Given the description of an element on the screen output the (x, y) to click on. 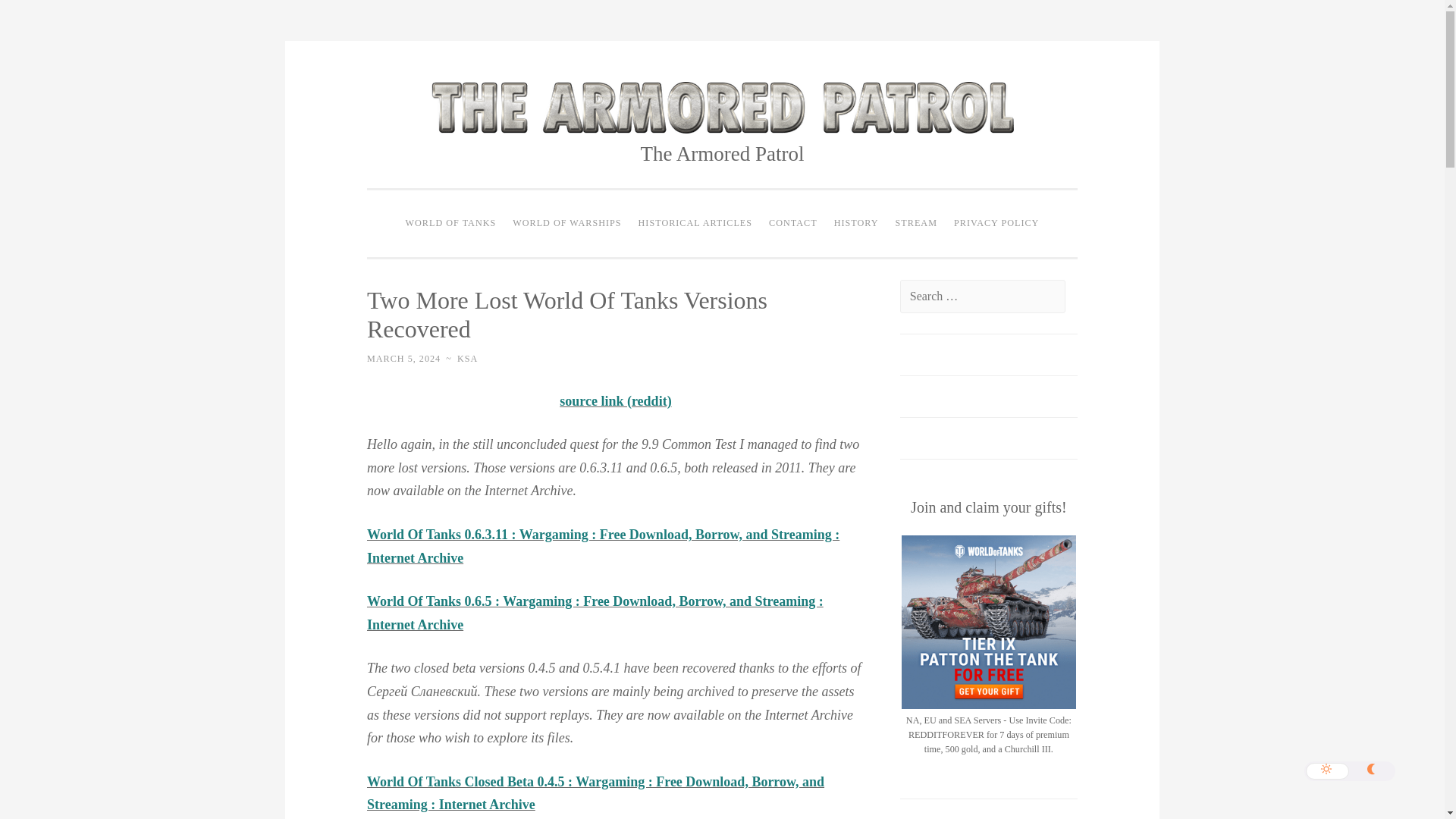
Search (39, 16)
CONTACT (792, 223)
MARCH 5, 2024 (403, 357)
STREAM (915, 223)
WORLD OF TANKS (450, 223)
PRIVACY POLICY (996, 223)
HISTORICAL ARTICLES (694, 223)
